Given the description of an element on the screen output the (x, y) to click on. 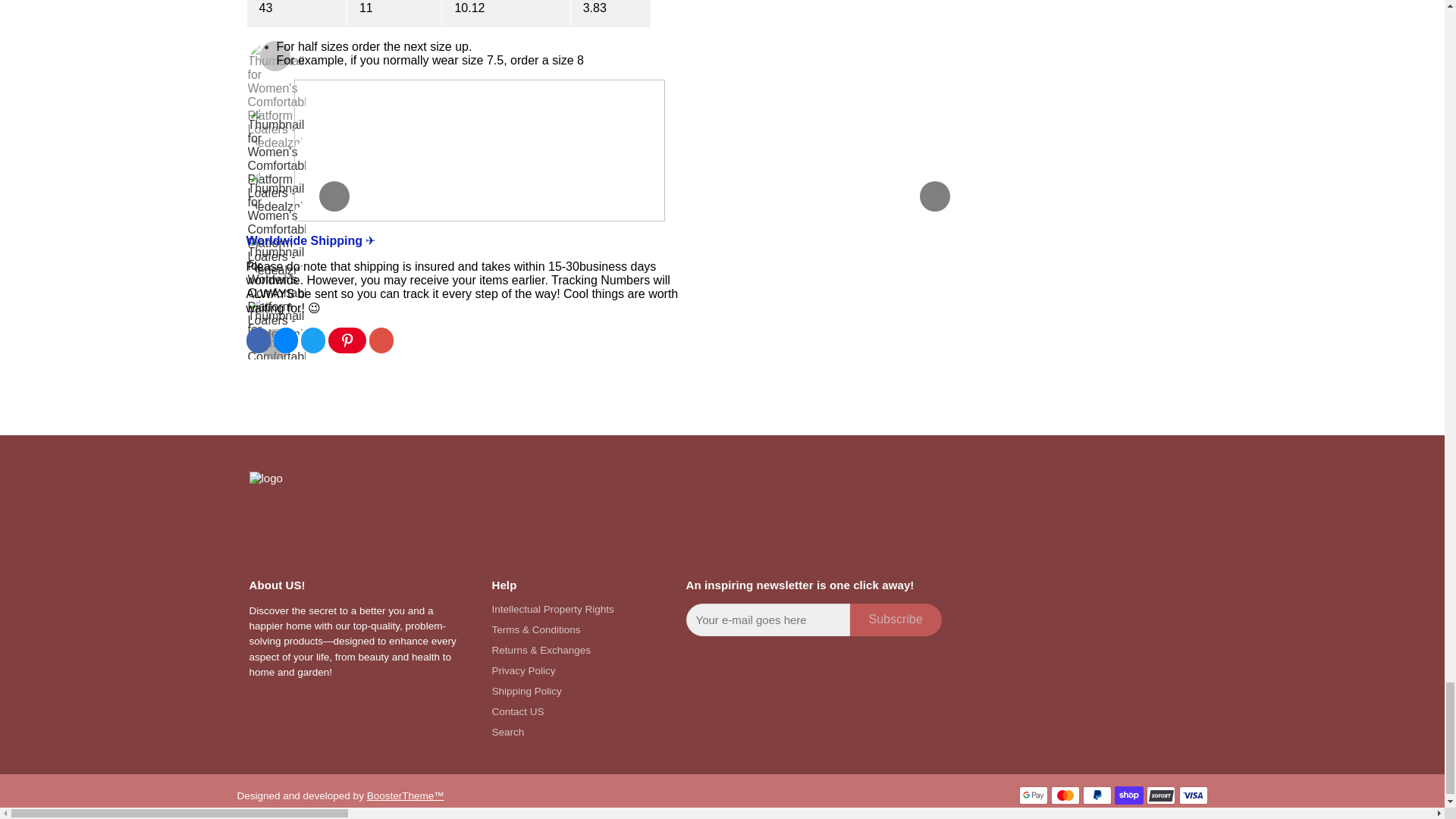
Mastercard (1065, 795)
Google Pay (1033, 795)
Shop Pay (1128, 795)
SOFORT (1160, 795)
Visa (1192, 795)
PayPal (1097, 795)
